Given the description of an element on the screen output the (x, y) to click on. 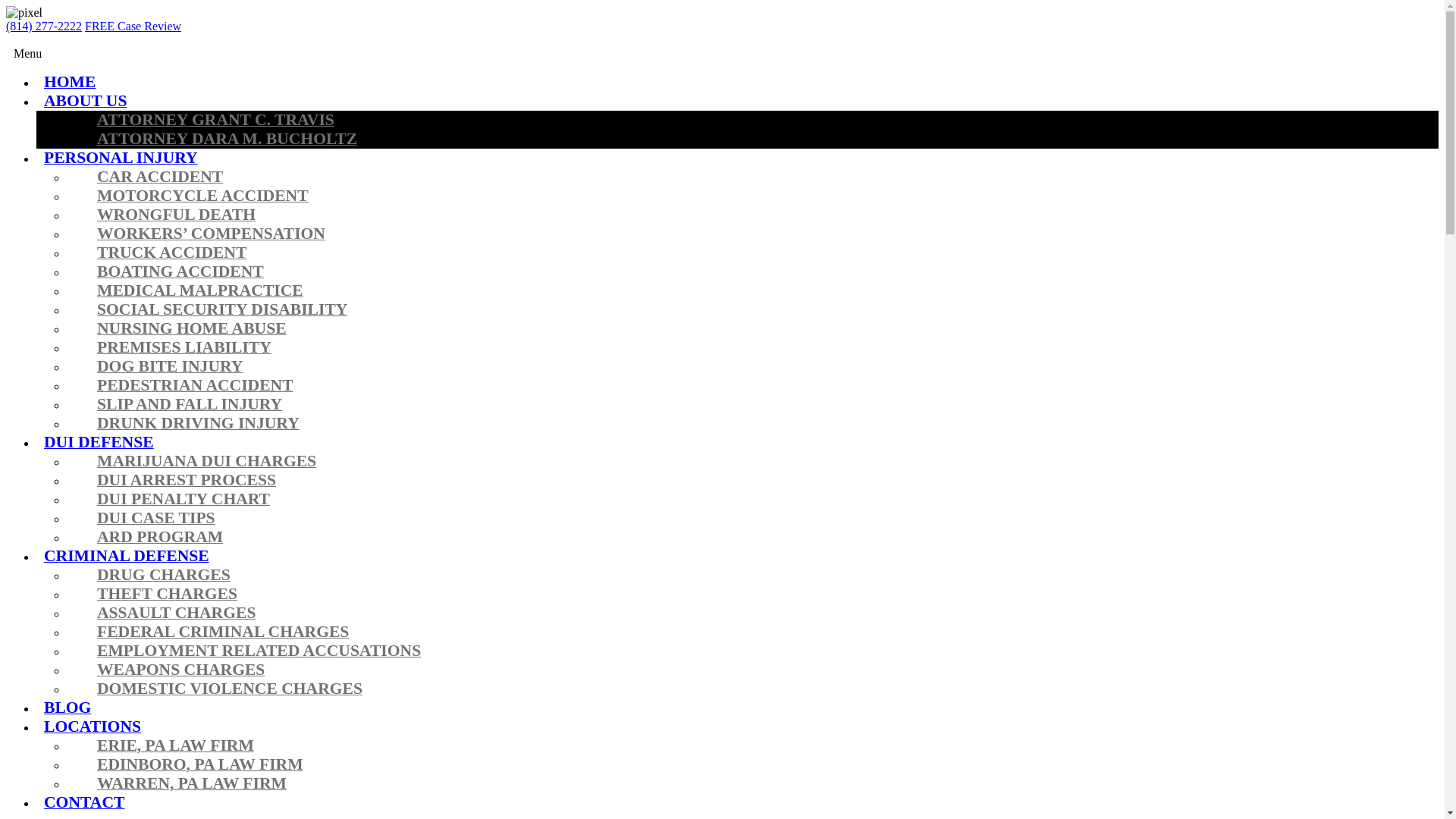
PEDESTRIAN ACCIDENT (194, 386)
PERSONAL INJURY (120, 158)
ARD PROGRAM (159, 537)
ASSAULT CHARGES (175, 613)
EMPLOYMENT RELATED ACCUSATIONS (258, 651)
FEDERAL CRIMINAL CHARGES (222, 632)
CAR ACCIDENT (159, 177)
MOTORCYCLE ACCIDENT (202, 196)
TRUCK ACCIDENT (171, 253)
ERIE, PA LAW FIRM (174, 746)
